Given the description of an element on the screen output the (x, y) to click on. 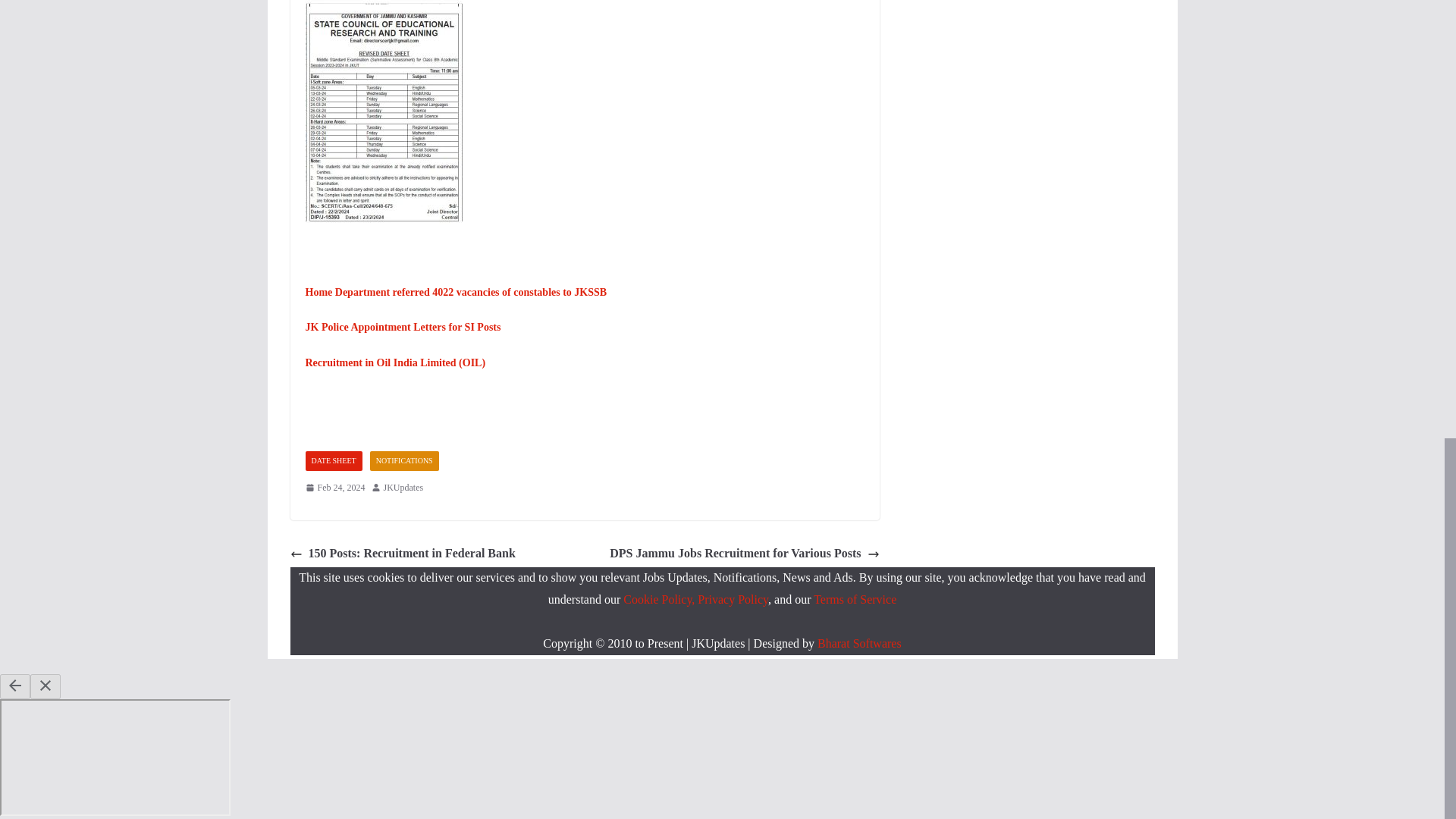
4:53 pm (334, 487)
JK Police Appointment Letters for SI Posts (402, 326)
JKUpdates (403, 487)
